Given the description of an element on the screen output the (x, y) to click on. 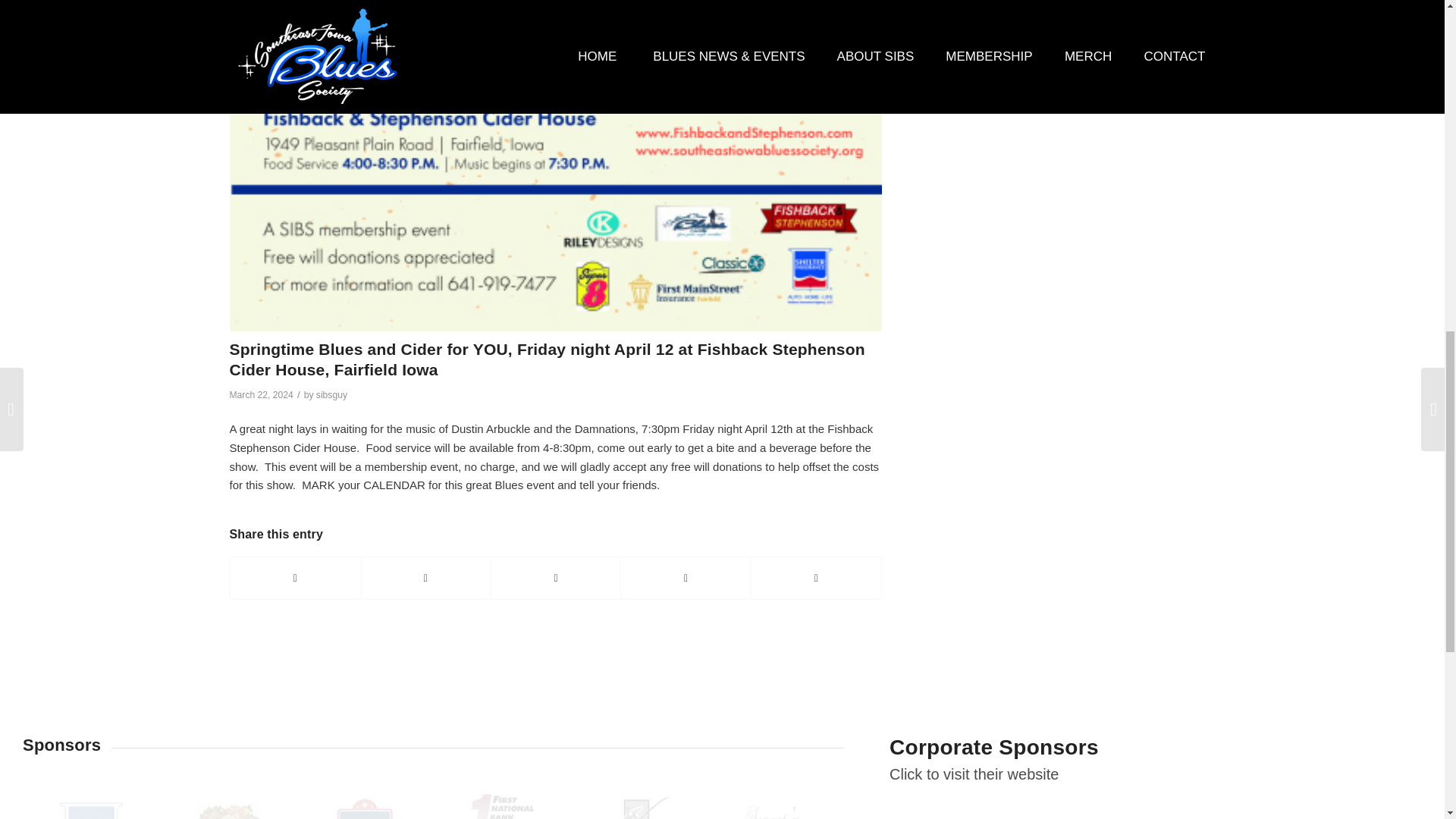
Posts by sibsguy (331, 394)
sibsguy (331, 394)
